Given the description of an element on the screen output the (x, y) to click on. 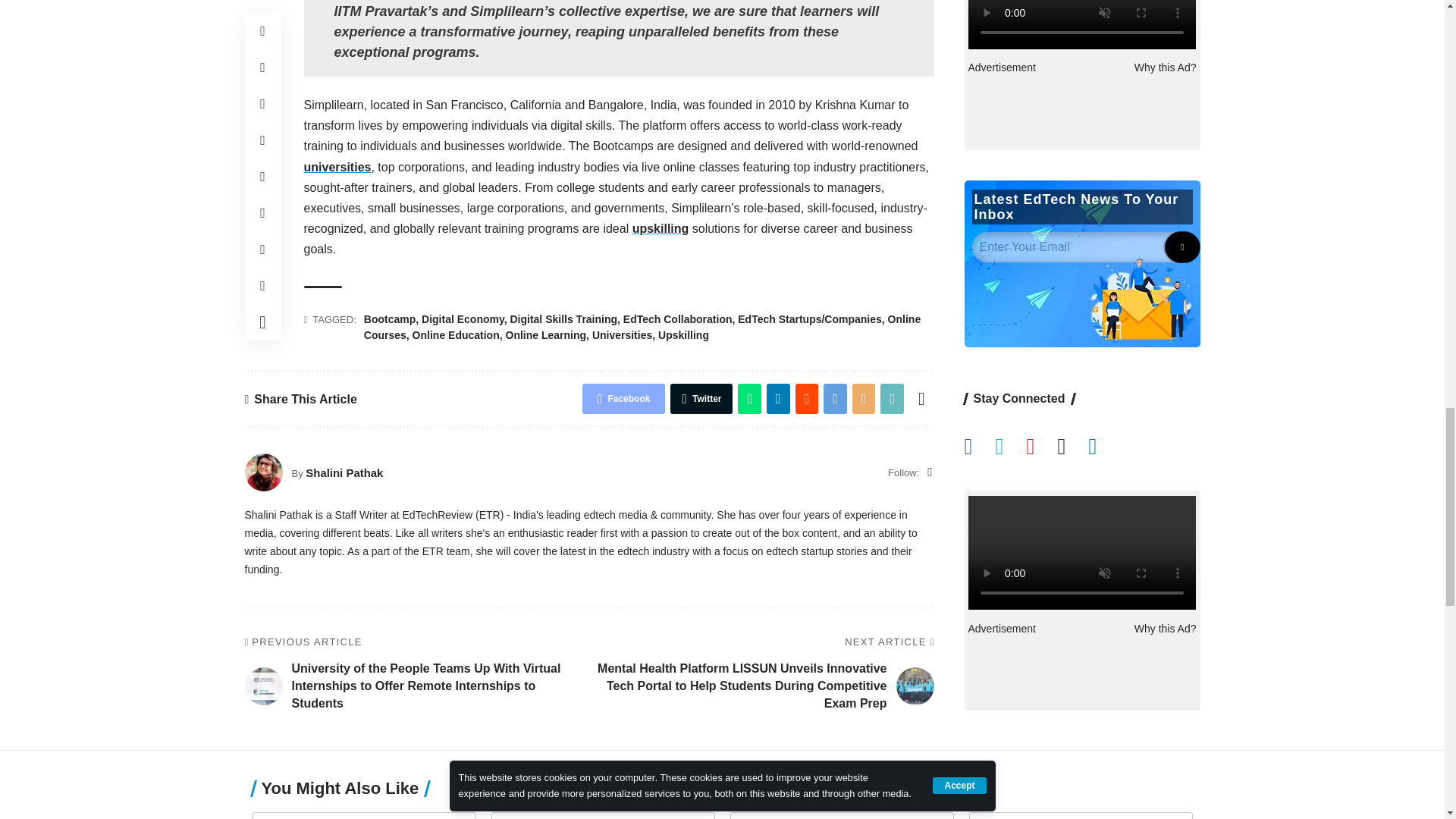
Shalini-pathak (263, 472)
